Given the description of an element on the screen output the (x, y) to click on. 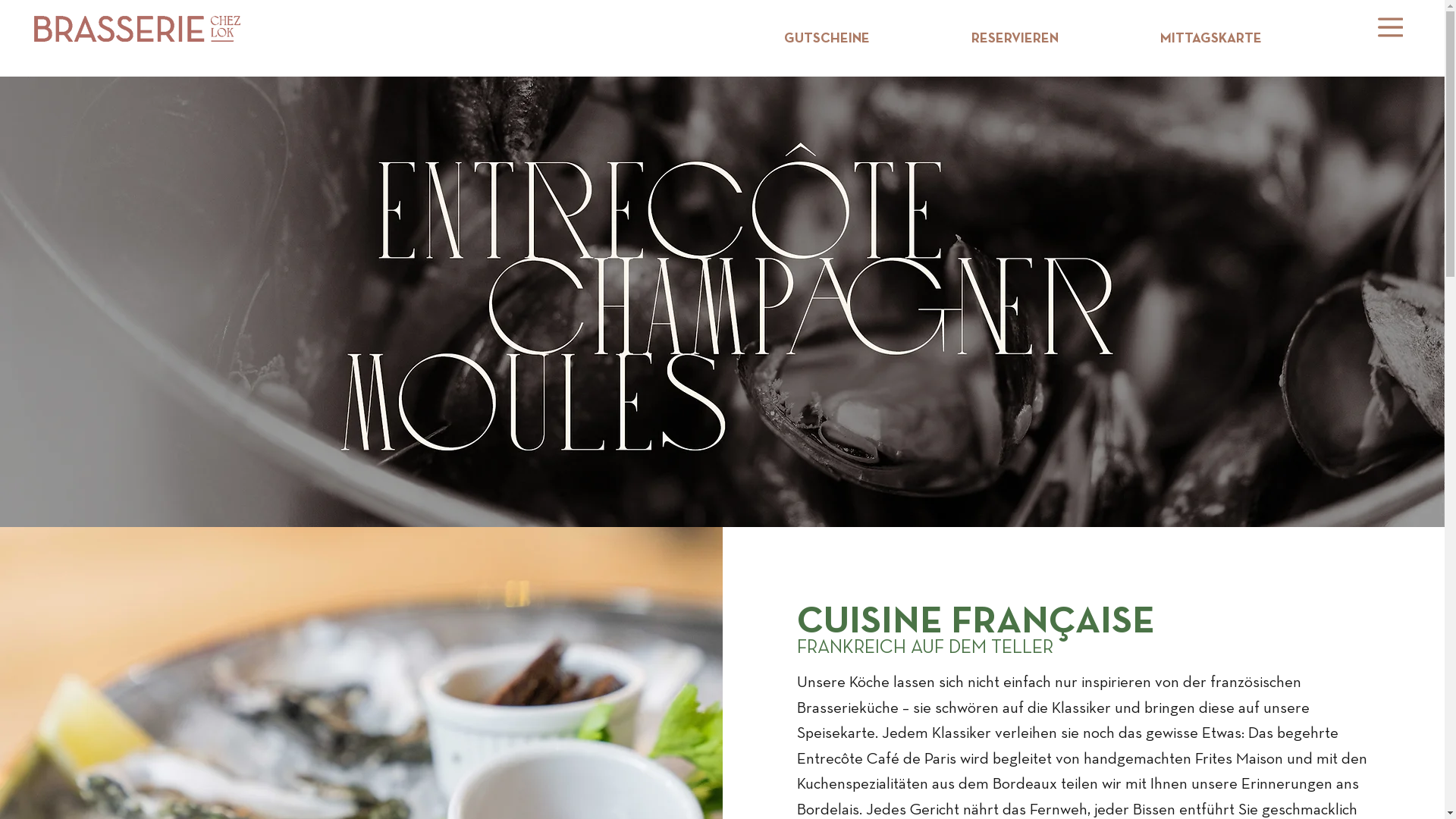
RESERVIEREN Element type: text (1014, 38)
MITTAGSKARTE Element type: text (1210, 38)
GUTSCHEINE Element type: text (826, 38)
